Given the description of an element on the screen output the (x, y) to click on. 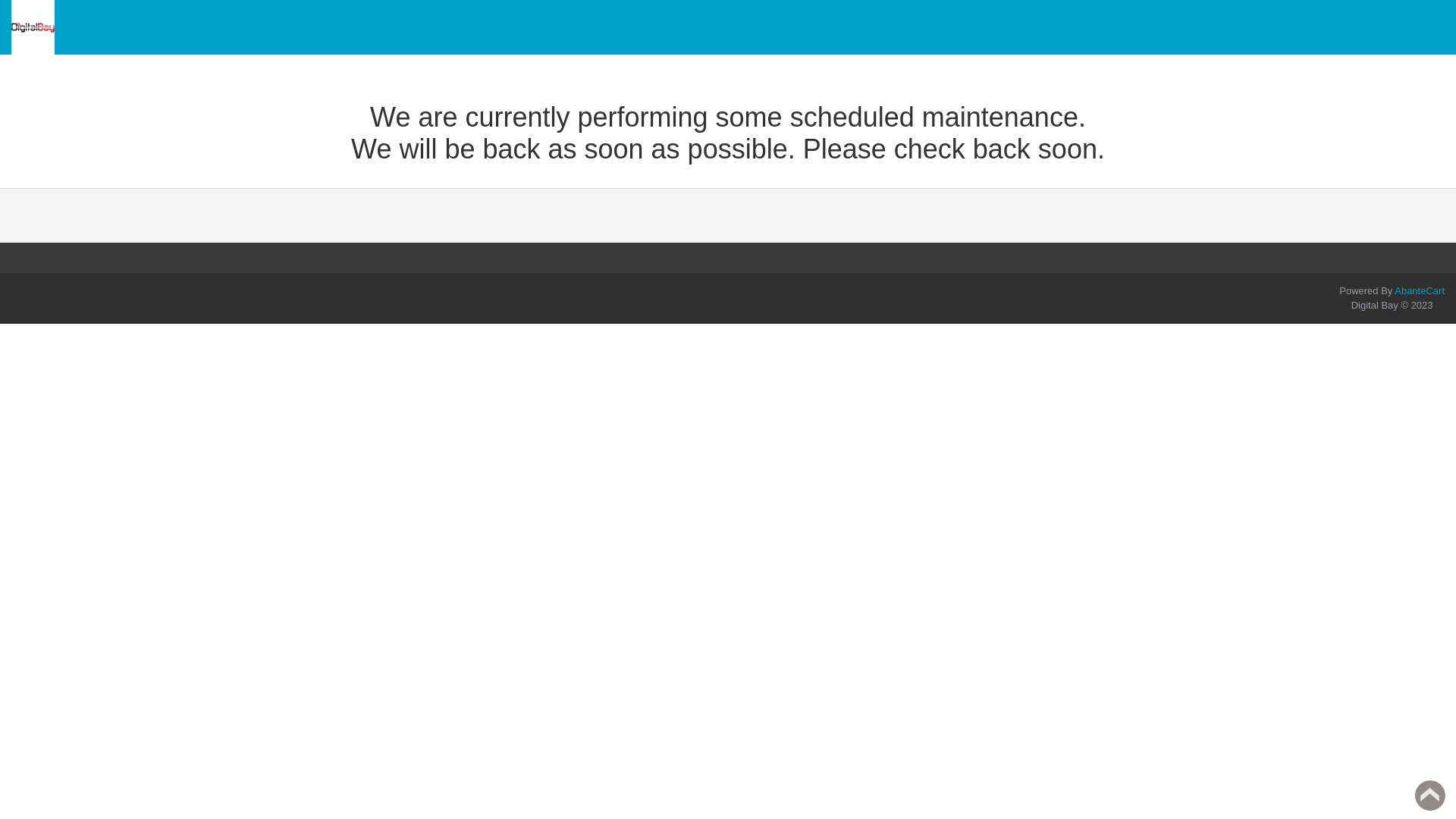
Digital Bay Element type: hover (32, 27)
AbanteCart Element type: text (1419, 290)
Back to top Element type: text (1430, 795)
